Given the description of an element on the screen output the (x, y) to click on. 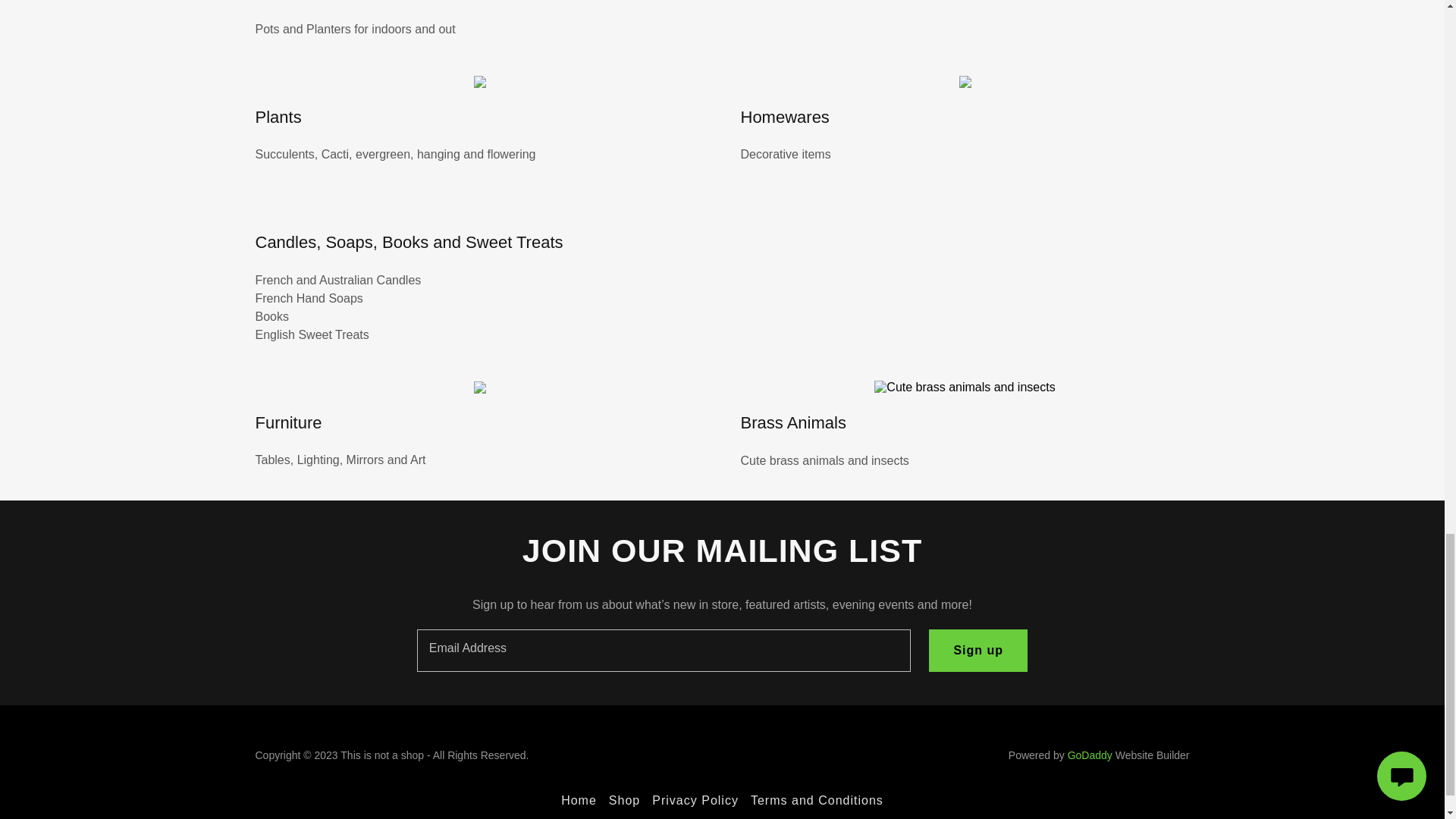
Home (578, 800)
Sign up (977, 650)
Shop (624, 800)
GoDaddy (1089, 755)
